Given the description of an element on the screen output the (x, y) to click on. 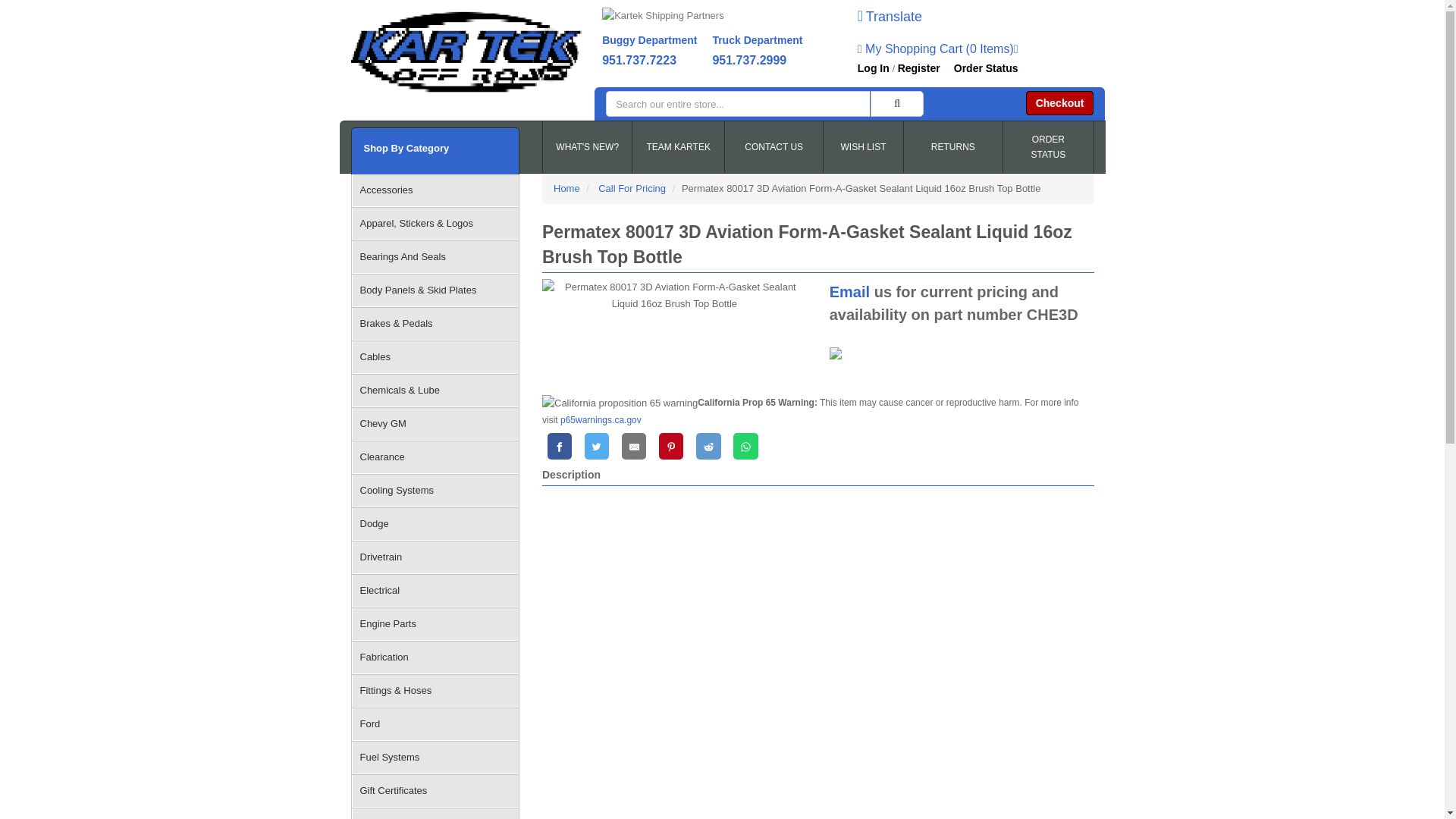
Kartek Off Road (466, 52)
Start Search (896, 103)
951.737.7223 (639, 60)
Order Status (985, 68)
Kartek Shipping Partners (710, 18)
Translate (889, 17)
Checkout (1060, 102)
TEAM KARTEK (677, 146)
Checkout Now (1060, 102)
WHAT'S NEW? (587, 146)
